Given the description of an element on the screen output the (x, y) to click on. 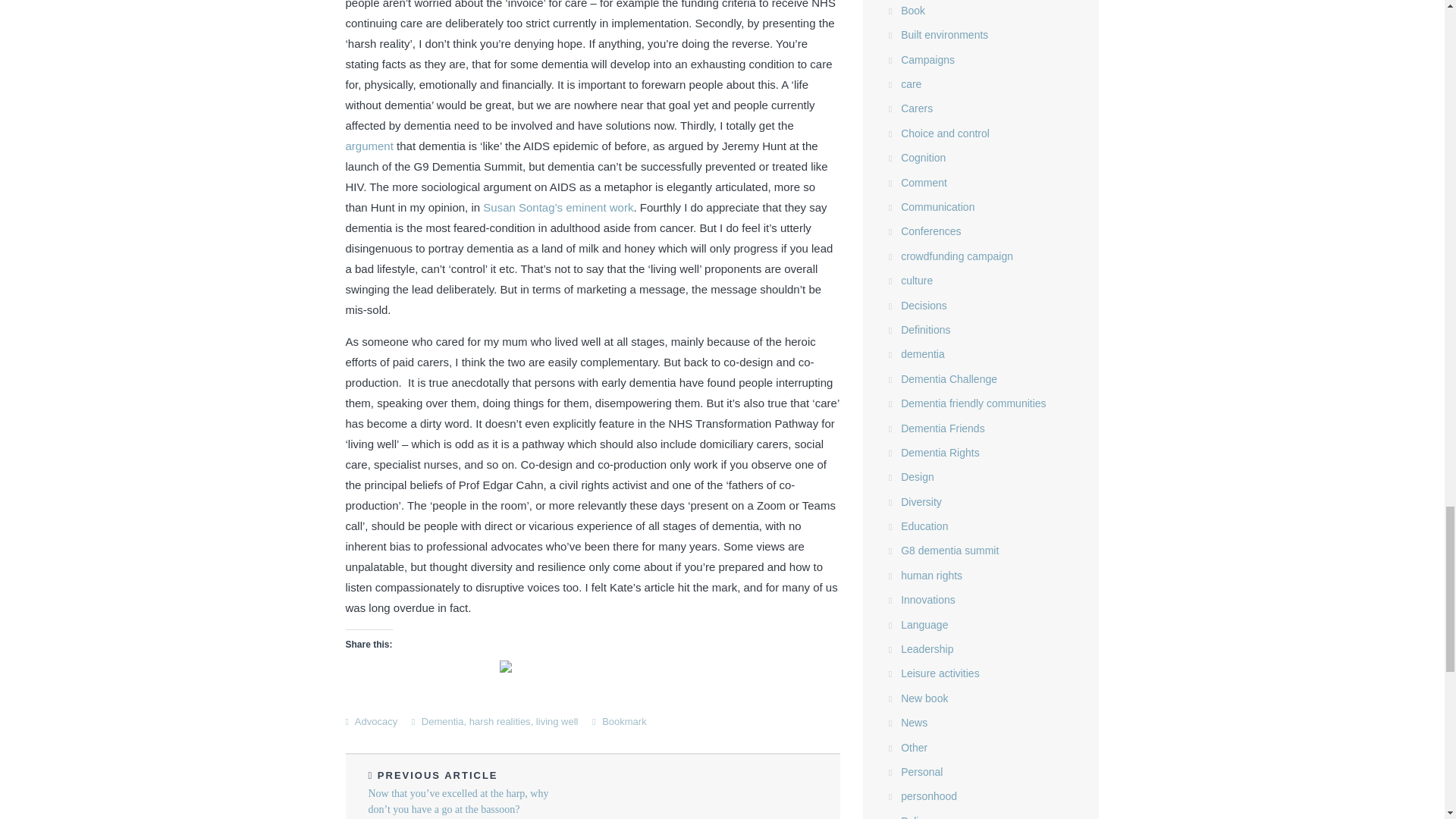
argument (369, 145)
Dementia (443, 721)
living well (556, 721)
harsh realities (499, 721)
Advocacy (376, 721)
Share on Tumblr (468, 666)
Bookmark (624, 721)
Share on Tumblr (468, 666)
